Given the description of an element on the screen output the (x, y) to click on. 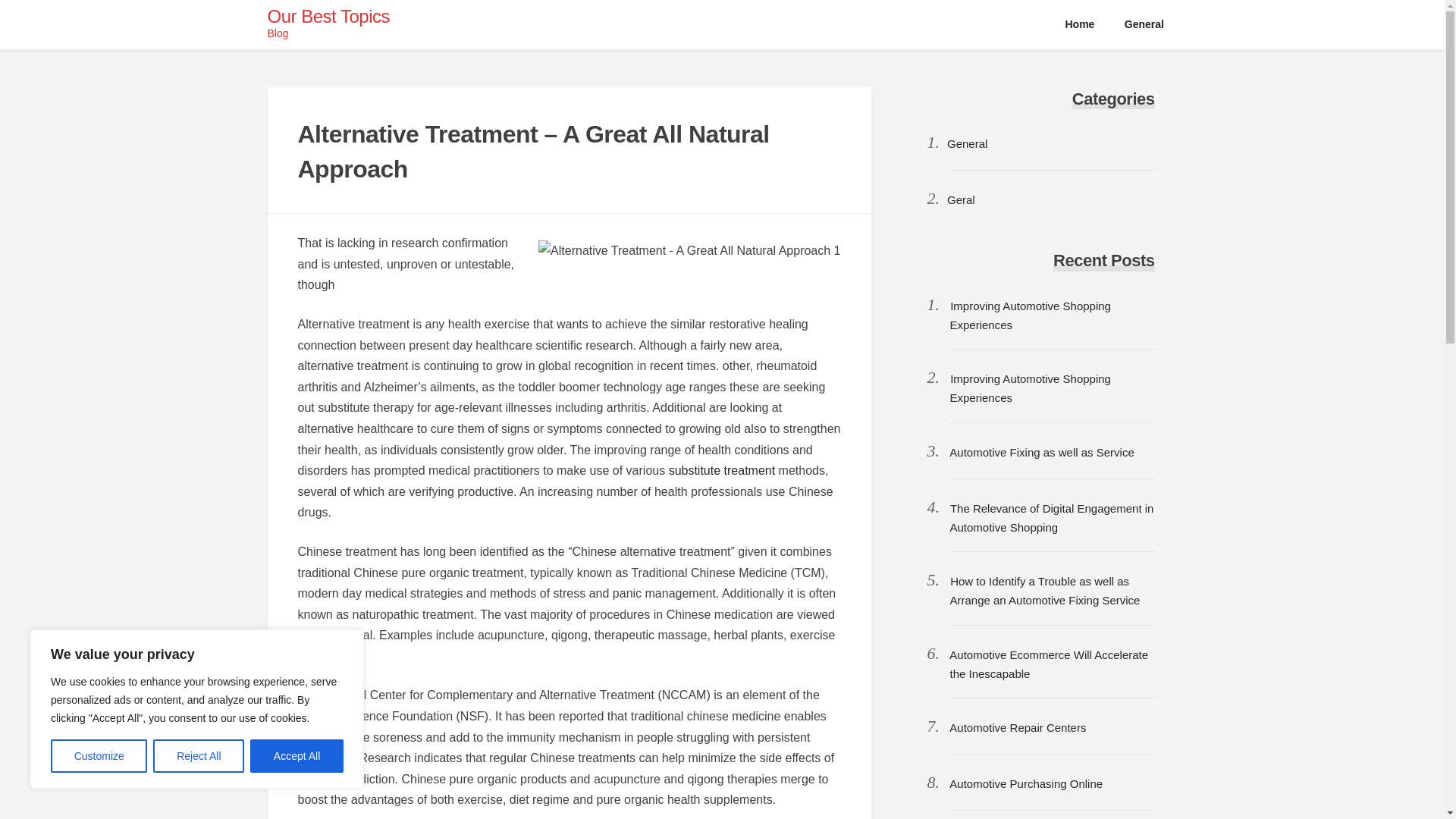
Automotive Ecommerce Will Accelerate the Inescapable (1048, 664)
Accept All (296, 756)
General (1143, 24)
Automotive Fixing as well as Service (1041, 451)
Improving Automotive Shopping Experiences (1029, 388)
The Relevance of Digital Engagement in Automotive Shopping (1051, 517)
Customize (98, 756)
Our Best Topics (327, 15)
Automotive Purchasing Online (1025, 783)
